Given the description of an element on the screen output the (x, y) to click on. 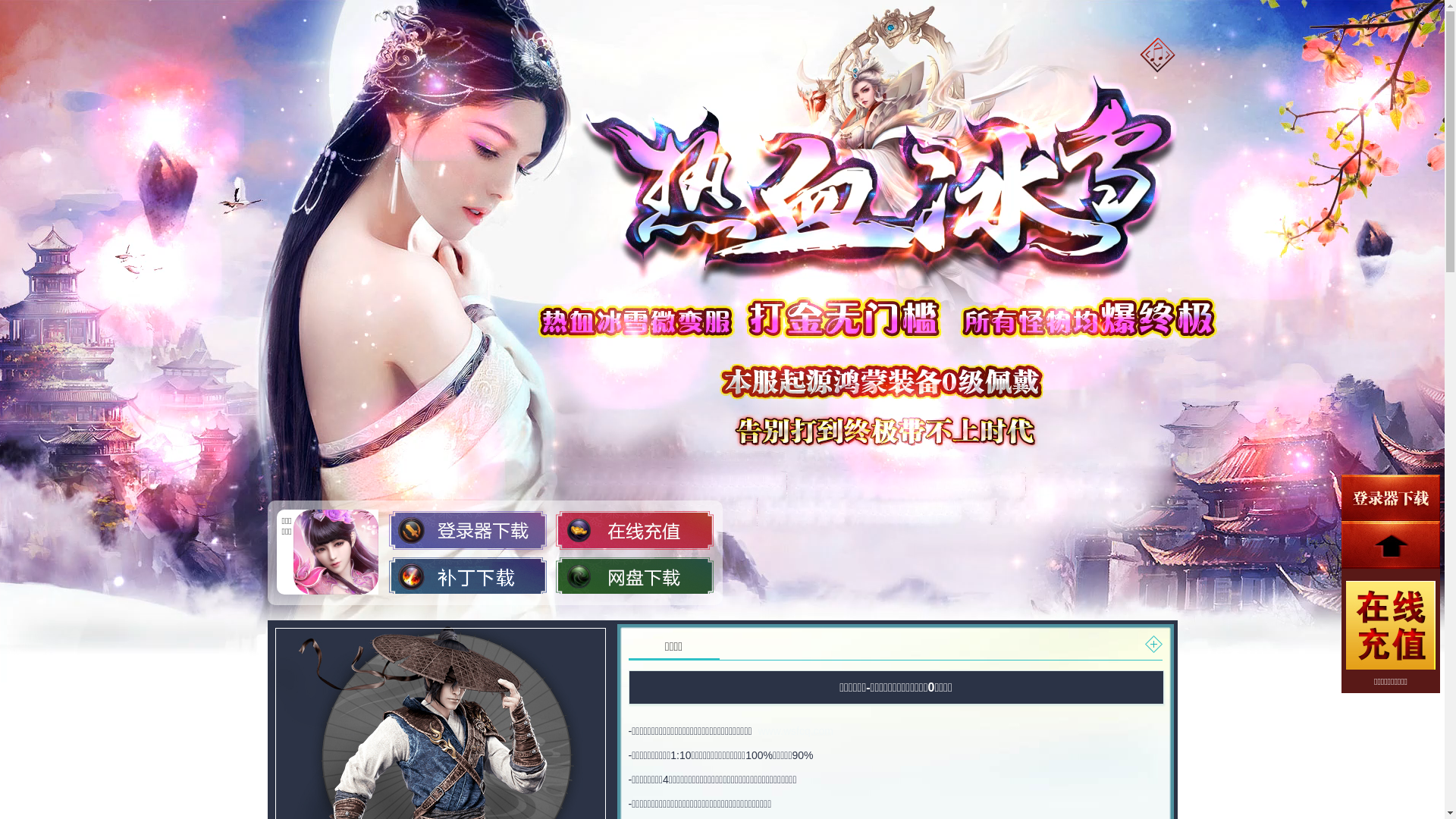
www.wsfcq.com Element type: text (795, 730)
top Element type: text (1390, 544)
